Given the description of an element on the screen output the (x, y) to click on. 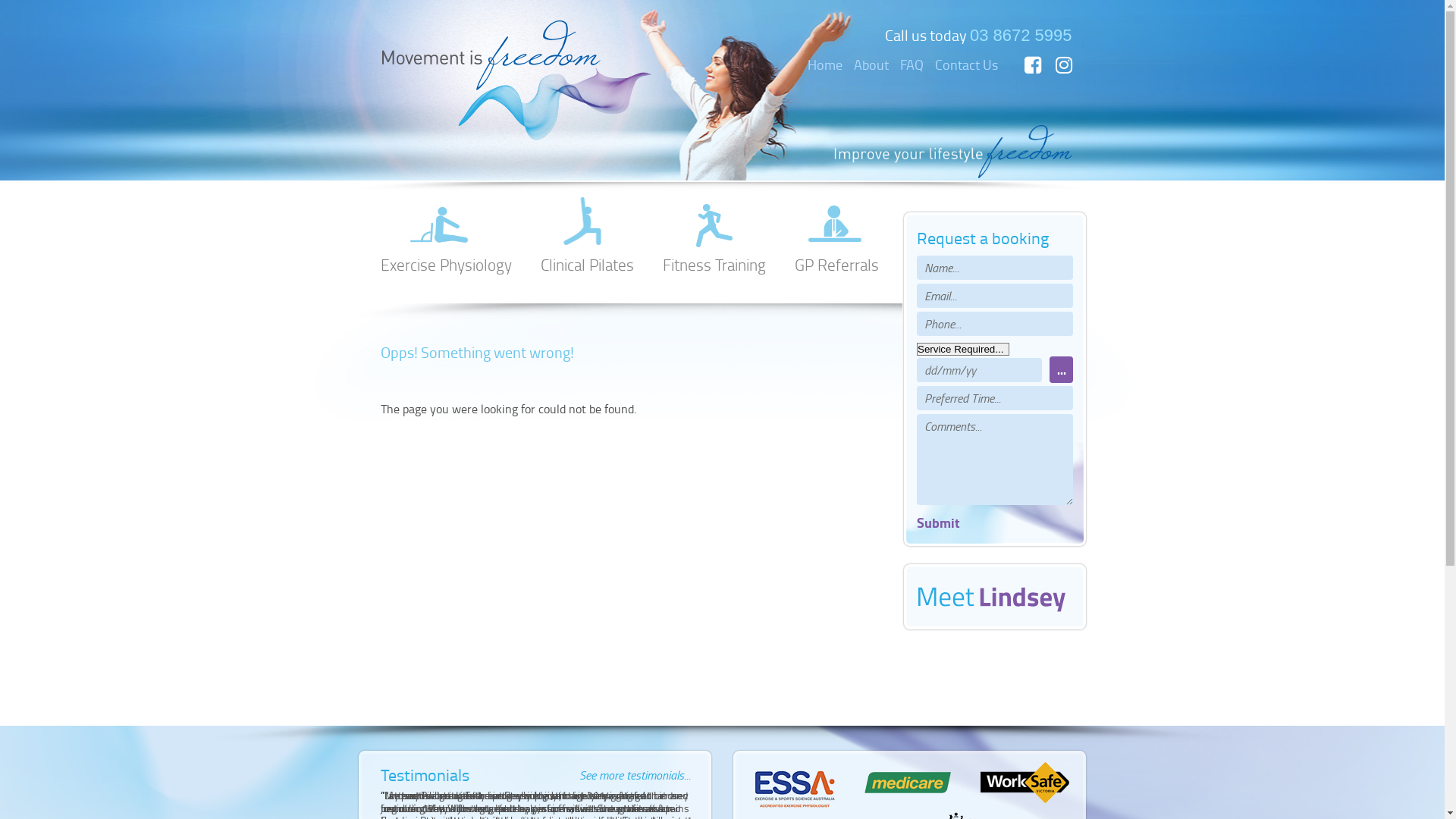
03 8672 5995 Element type: text (1020, 34)
Exercise Physiology Element type: text (445, 232)
Fitness Training Element type: text (713, 232)
About Element type: text (870, 64)
Home Element type: text (823, 64)
Submit Element type: text (938, 522)
GP Referrals Element type: text (836, 232)
Contact Us Element type: text (965, 64)
... Element type: text (1061, 369)
FAQ Element type: text (910, 64)
Clinical Pilates Element type: text (586, 232)
See more testimonials... Element type: text (634, 773)
